Given the description of an element on the screen output the (x, y) to click on. 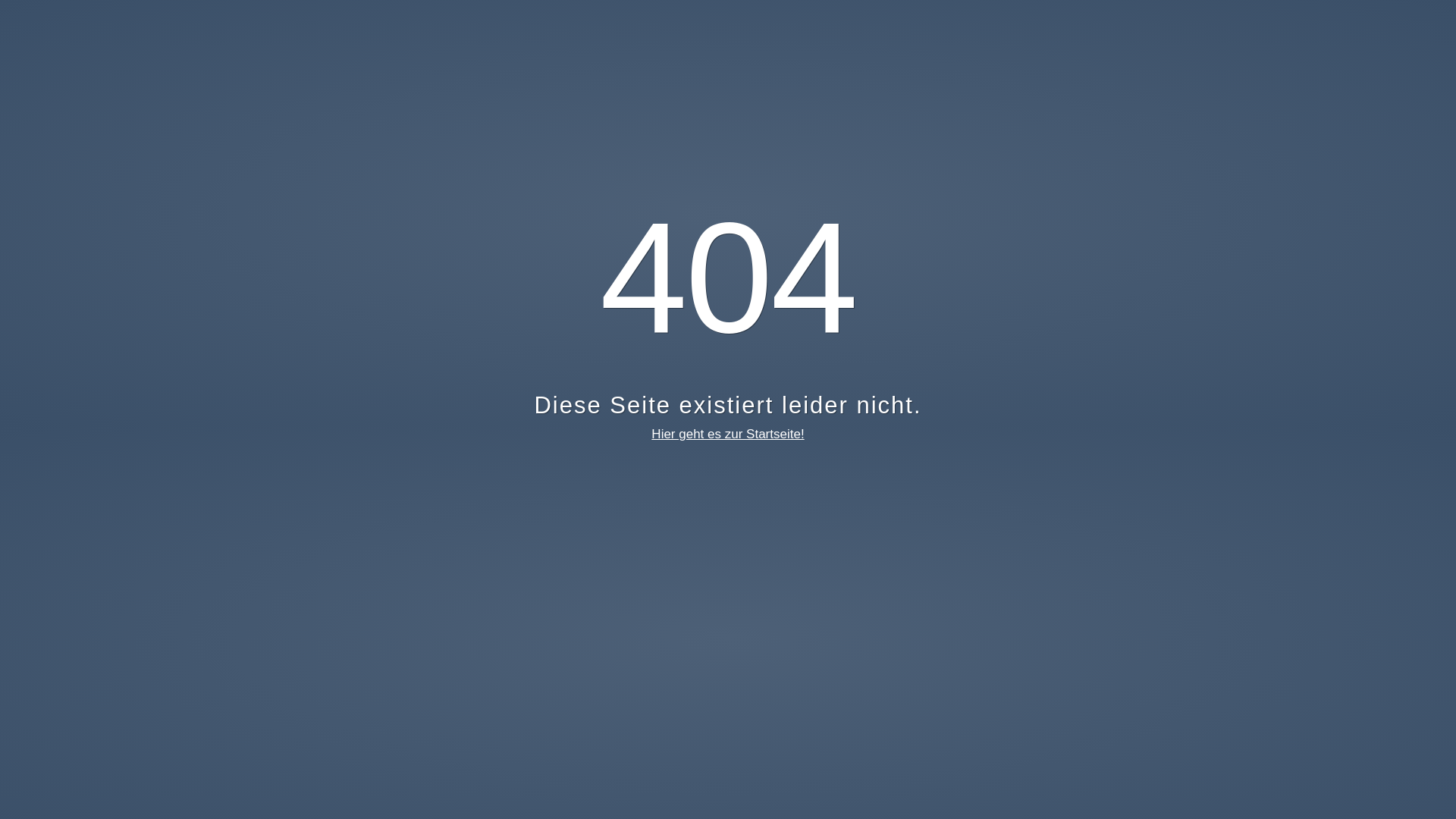
Hier geht es zur Startseite! Element type: text (727, 433)
